Given the description of an element on the screen output the (x, y) to click on. 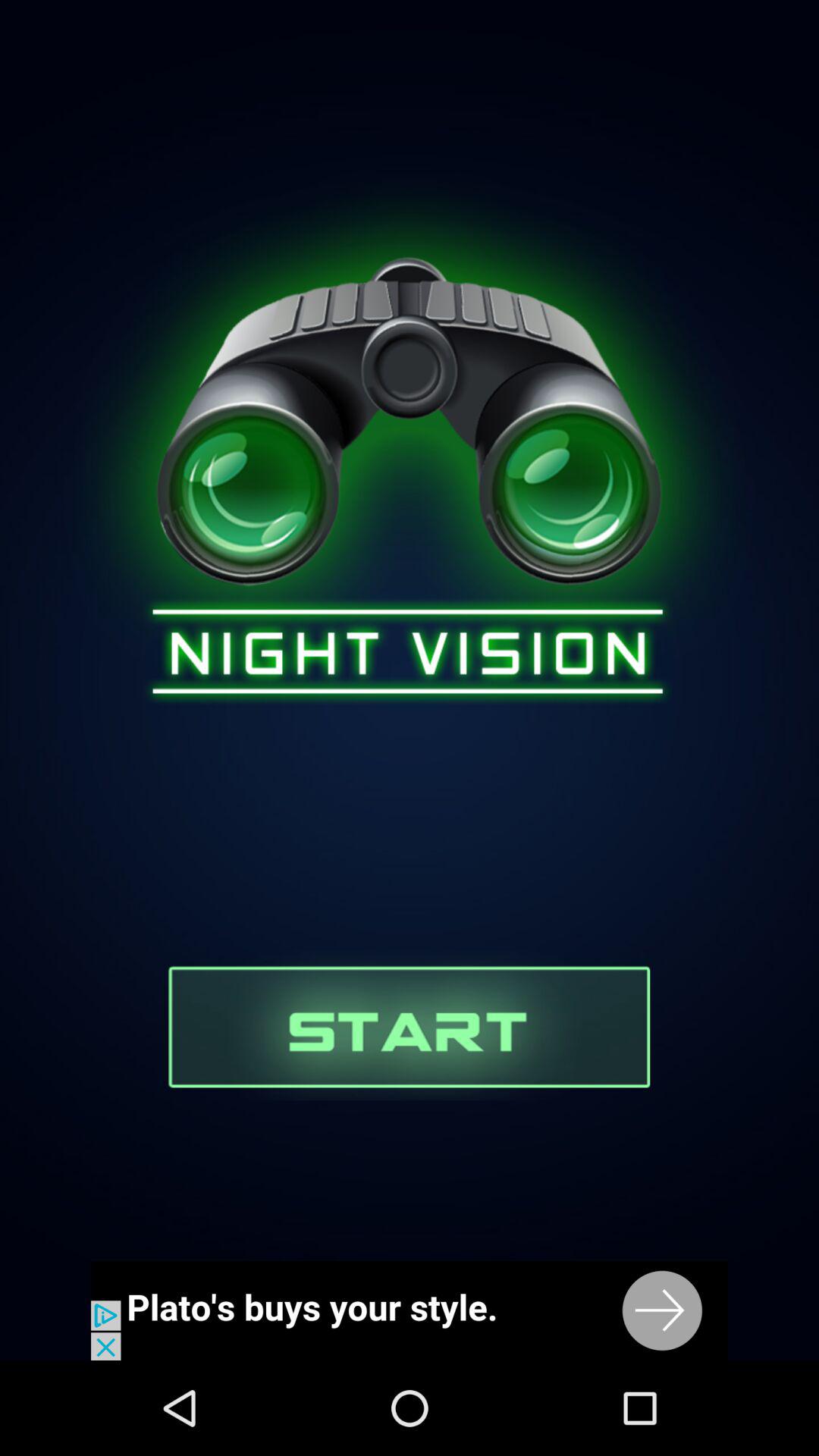
start button (409, 1024)
